Given the description of an element on the screen output the (x, y) to click on. 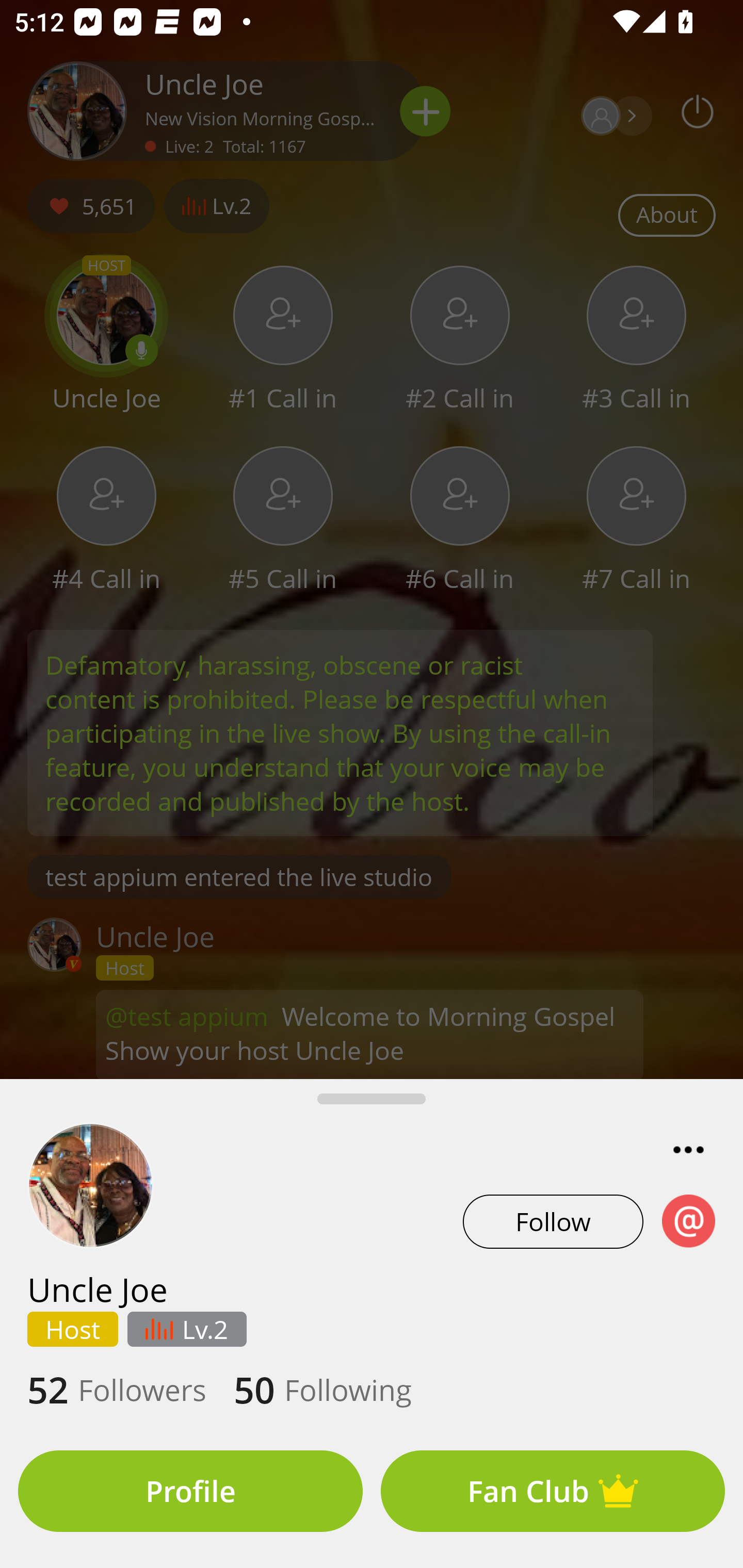
Follow (552, 1221)
Profile (189, 1490)
Fan Club (552, 1490)
